Given the description of an element on the screen output the (x, y) to click on. 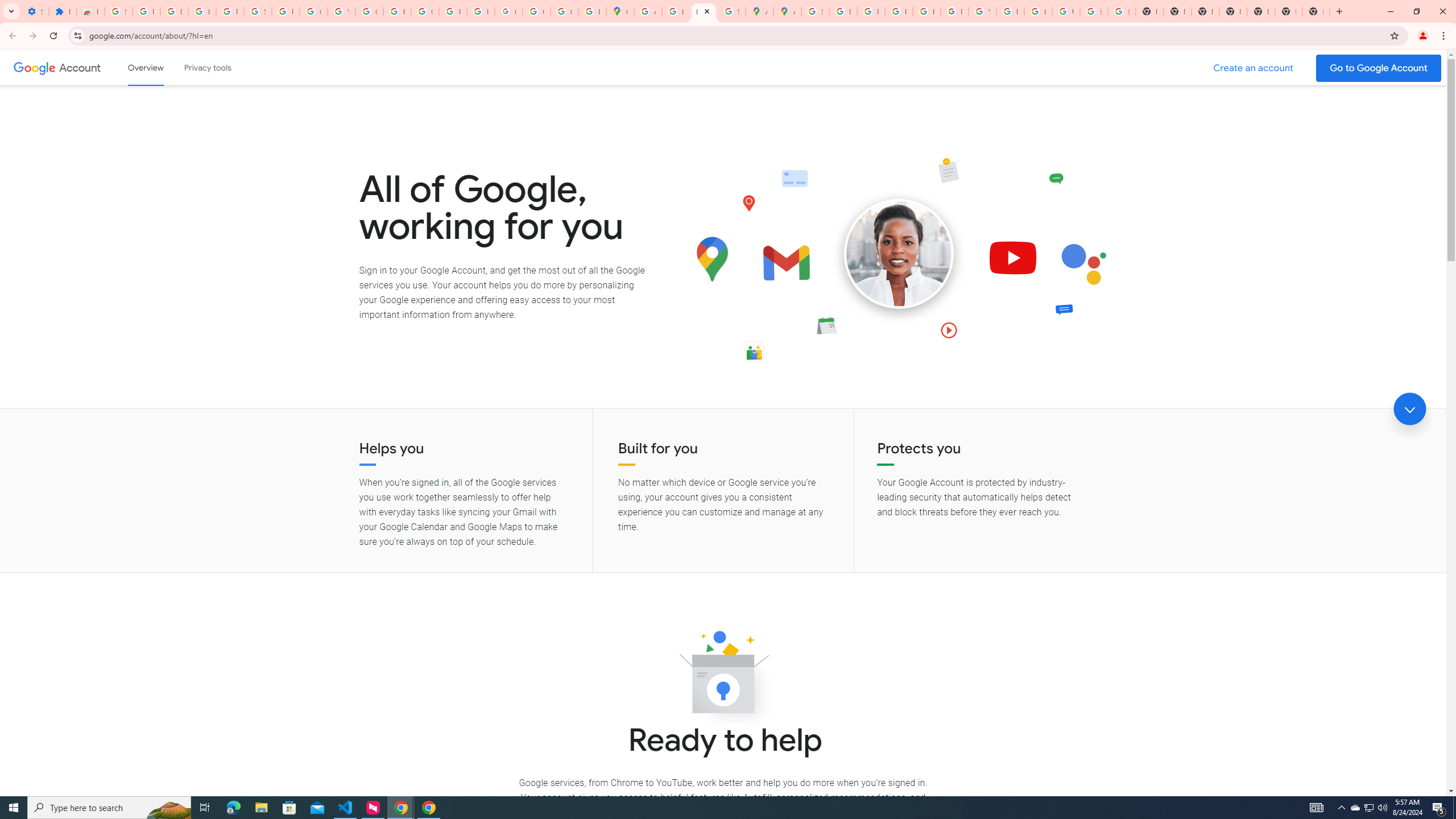
New Tab (1288, 11)
Skip to Content (162, 65)
Google logo (34, 67)
New Tab (1316, 11)
Reviews: Helix Fruit Jump Arcade Game (90, 11)
Ready to help (722, 675)
Privacy tools (207, 67)
